Given the description of an element on the screen output the (x, y) to click on. 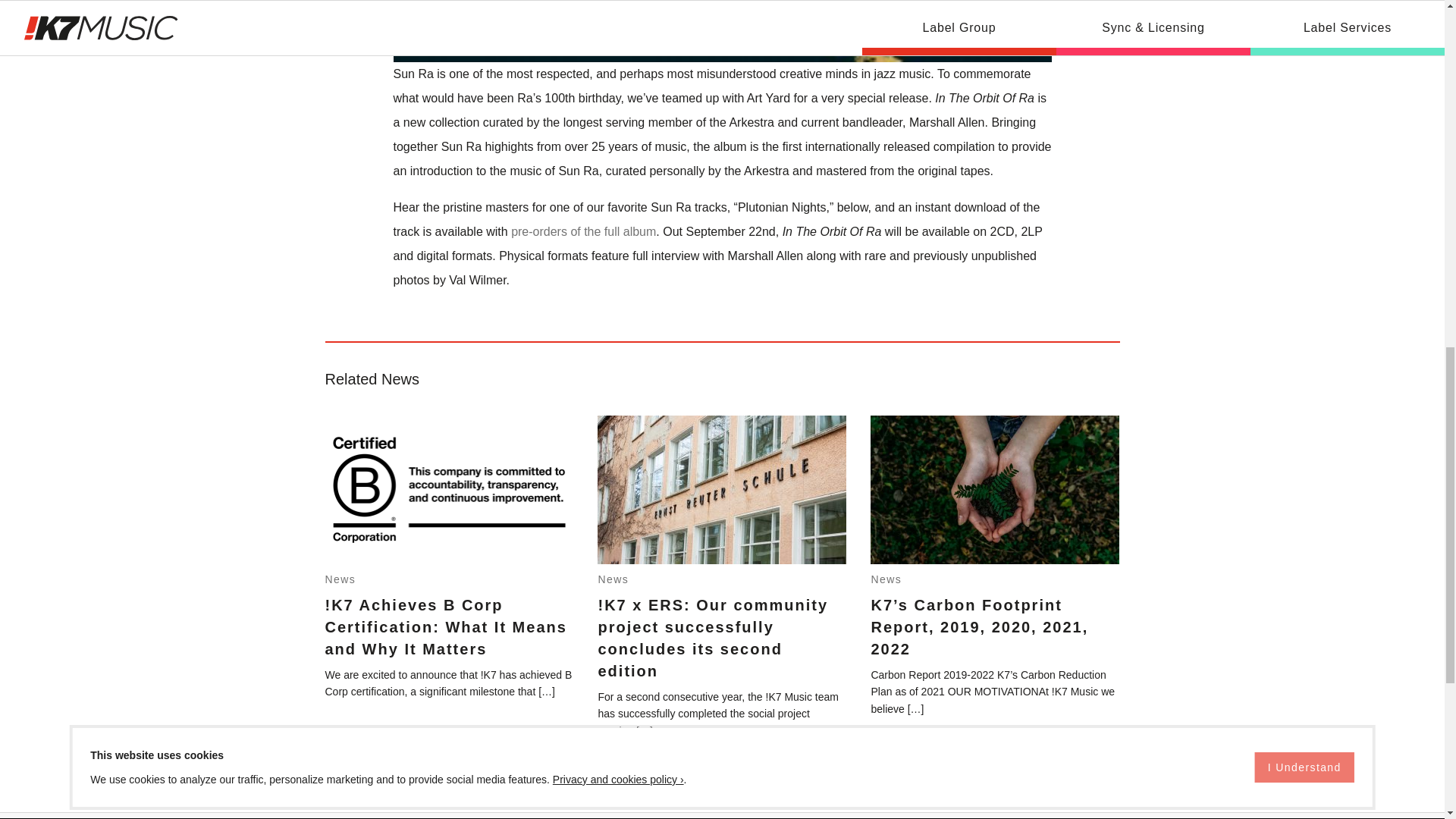
News (612, 579)
News (885, 579)
News (339, 579)
pre-orders of the full album (583, 231)
